Given the description of an element on the screen output the (x, y) to click on. 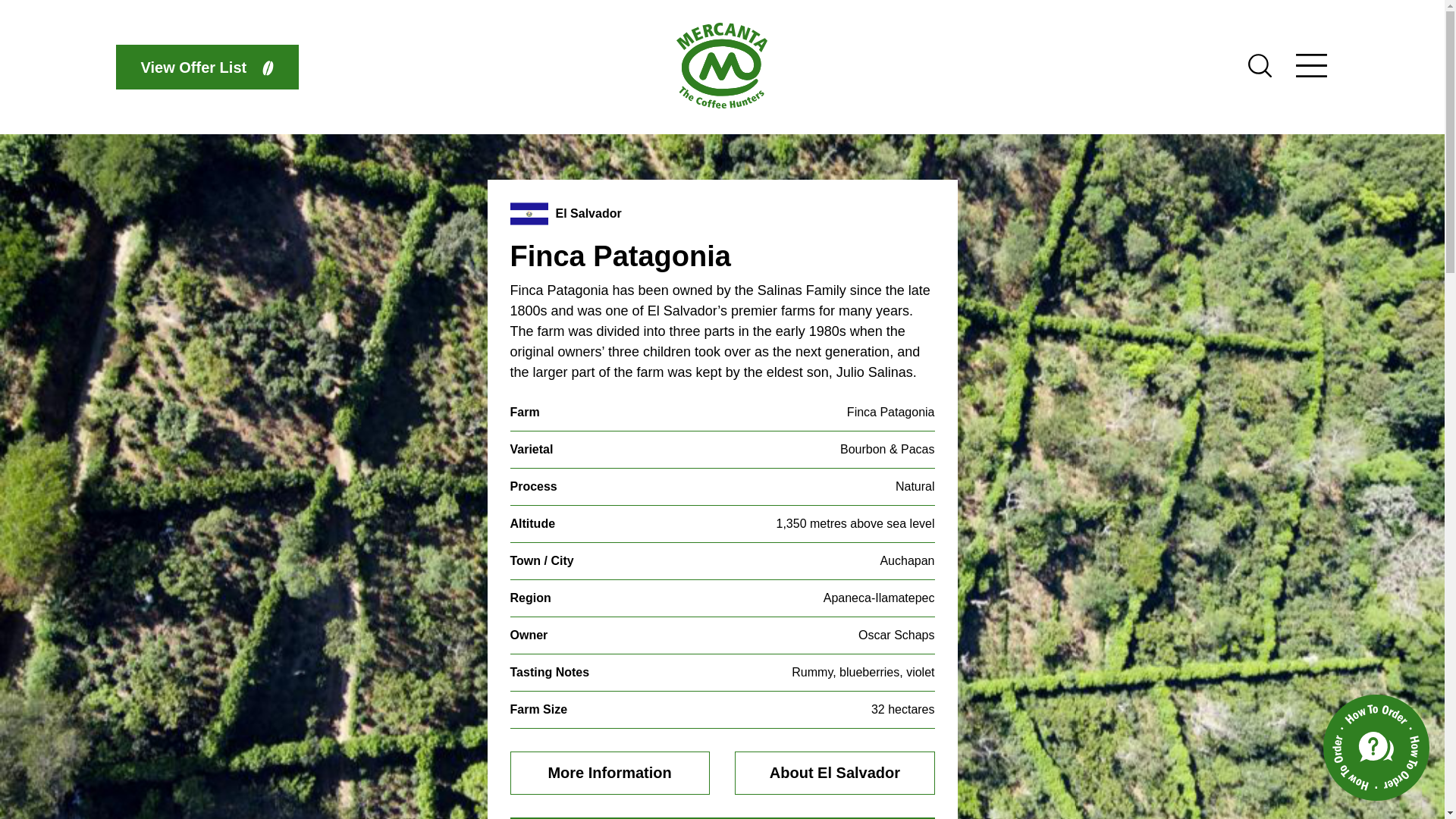
How To Order (1376, 748)
About El Salvador (834, 772)
Offer List (206, 67)
Search (1259, 72)
View Offer List (206, 67)
More Information (609, 772)
